Given the description of an element on the screen output the (x, y) to click on. 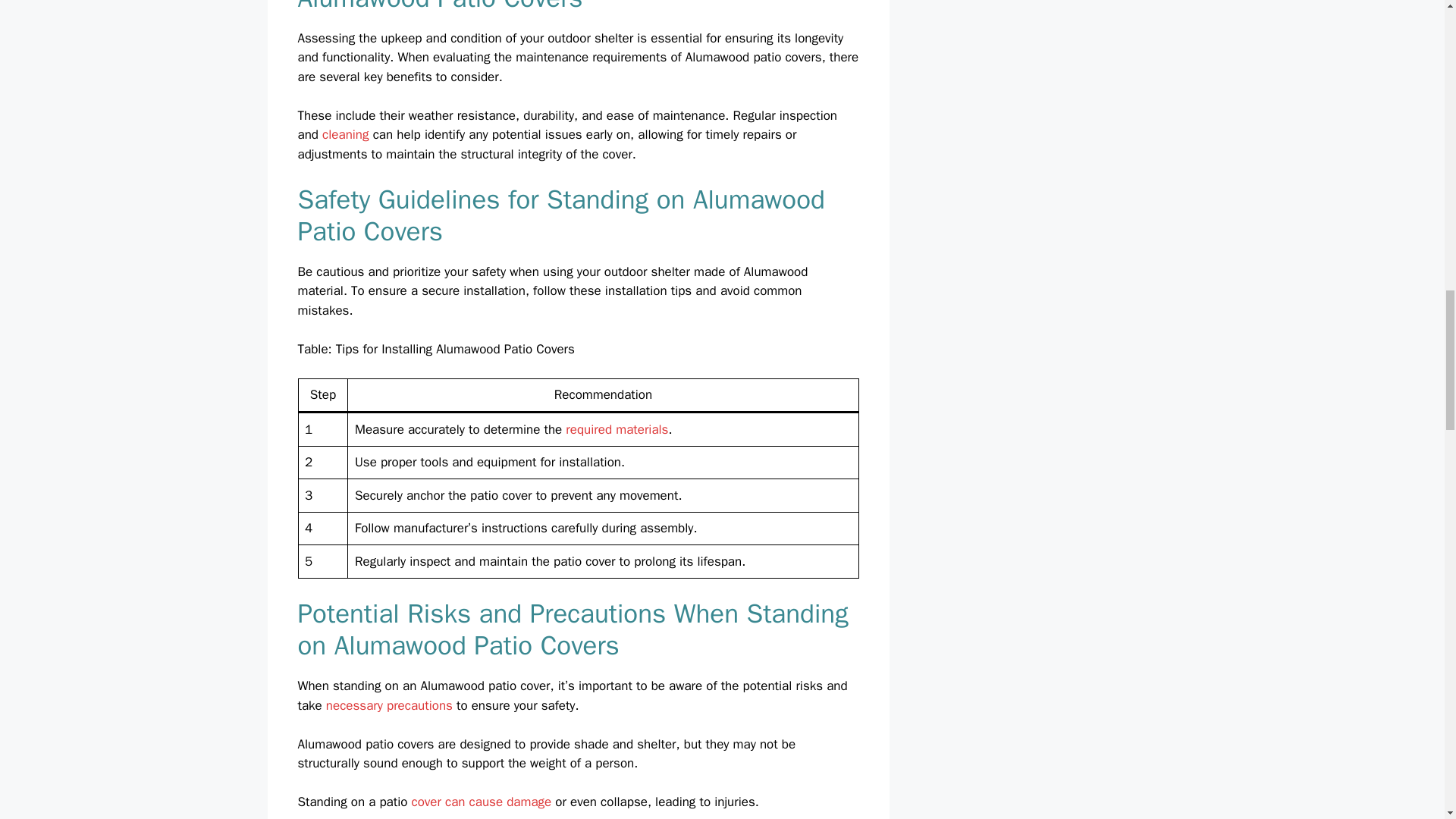
required materials (617, 429)
necessary precautions (389, 705)
cleaning (344, 134)
cover can cause damage (481, 801)
